Given the description of an element on the screen output the (x, y) to click on. 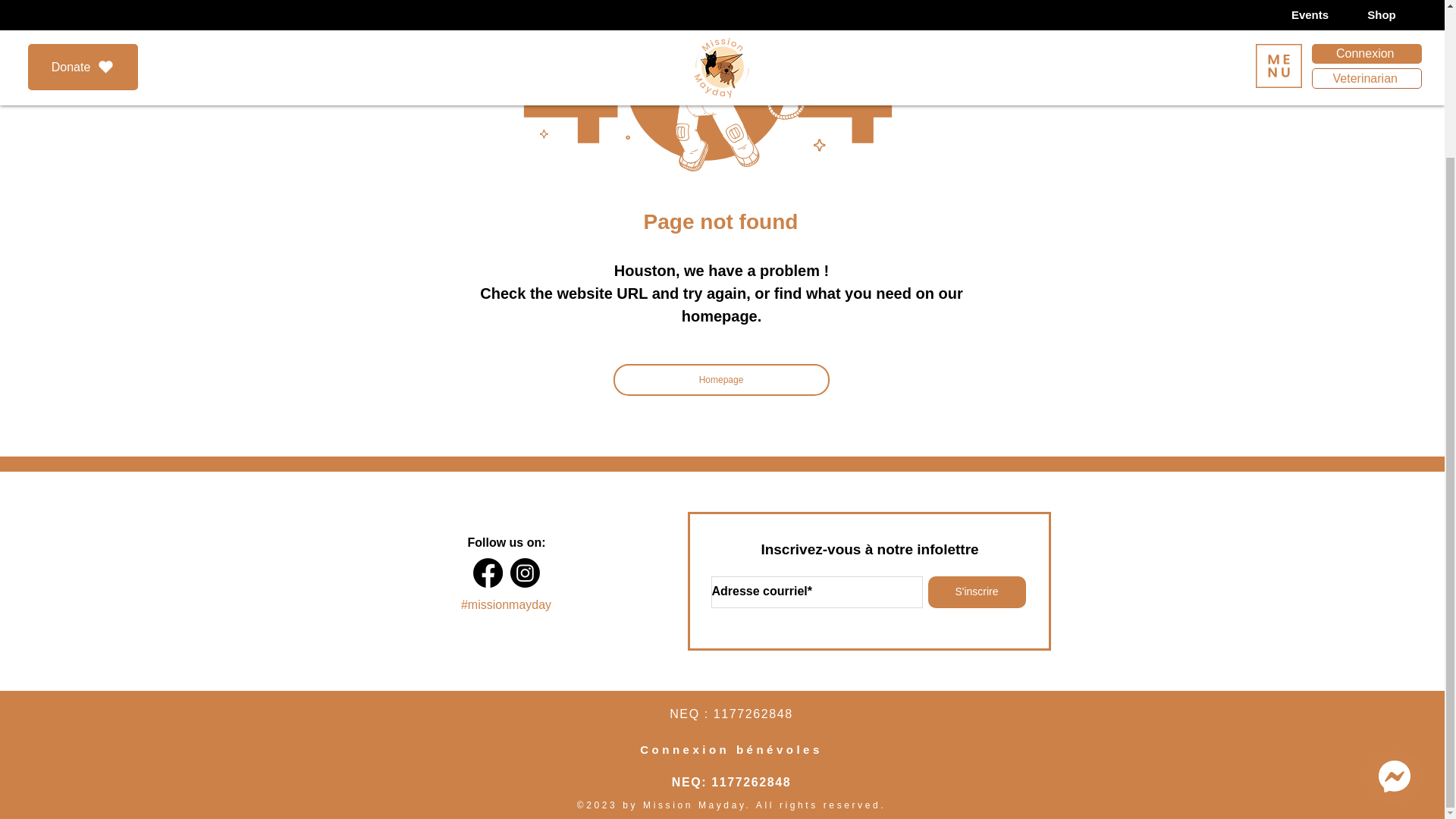
S'inscrire (977, 592)
Homepage (720, 379)
